Given the description of an element on the screen output the (x, y) to click on. 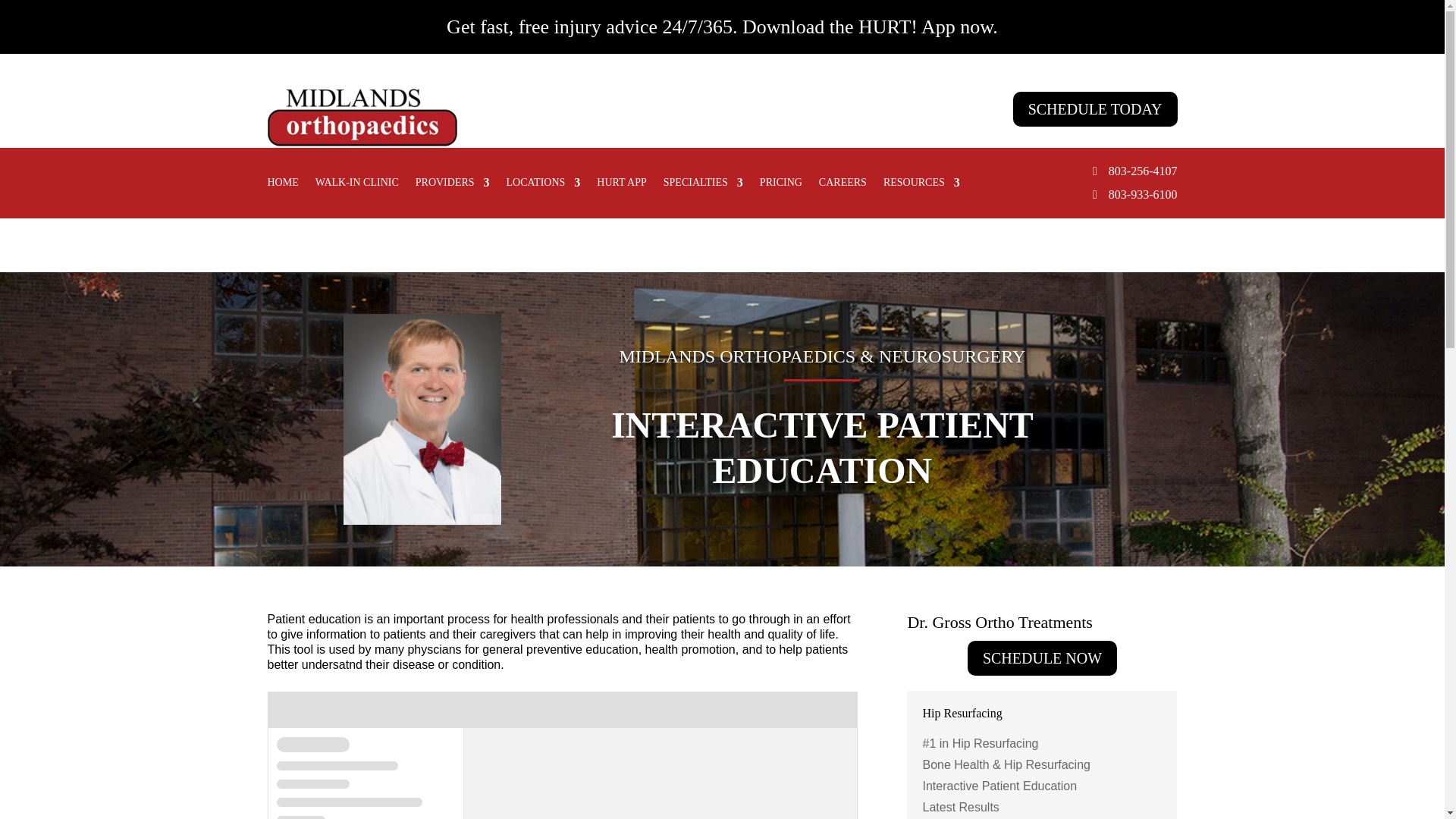
PROVIDERS (451, 185)
HOME (282, 185)
PATIENT PORTAL (798, 156)
HURT APP (621, 185)
ViewMedica Video Player (561, 755)
PAY BILL (704, 156)
VENDOR REP (1033, 156)
SPECIALTIES (702, 185)
logo (361, 127)
WALK-IN CLINIC (356, 185)
CAREERS (842, 185)
PATIENT REFERRAL (919, 156)
SCHEDULE TODAY (1095, 108)
VIRTUAL VISIT (1132, 156)
PRICING (781, 185)
